Given the description of an element on the screen output the (x, y) to click on. 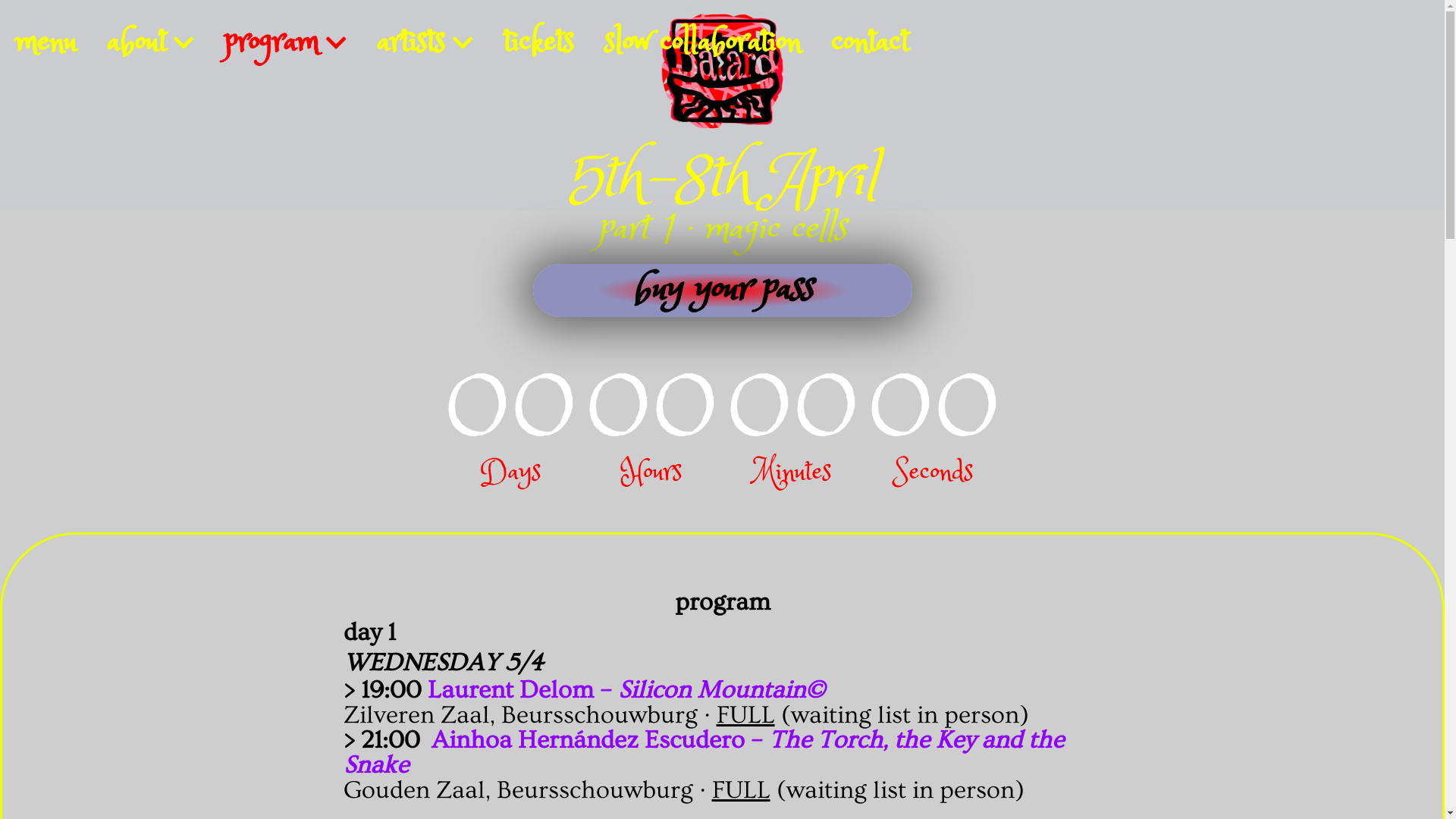
slow collaboration Element type: text (702, 43)
about Element type: text (150, 43)
tickets Element type: text (538, 43)
program Element type: text (285, 43)
buy your pass Element type: text (721, 289)
contact Element type: text (869, 43)
menu Element type: text (45, 43)
artists Element type: text (424, 43)
